Given the description of an element on the screen output the (x, y) to click on. 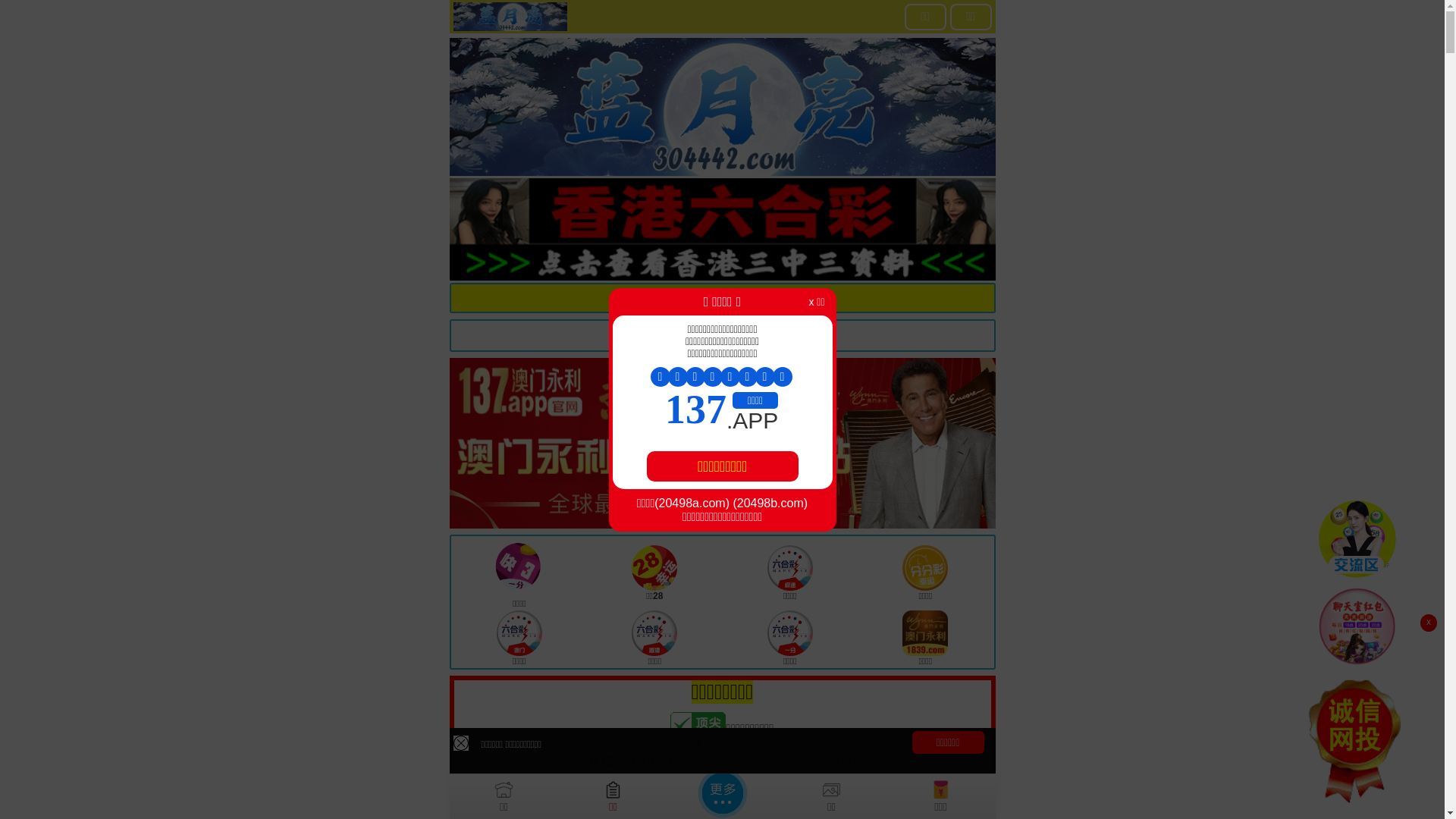
x Element type: text (1428, 622)
